Given the description of an element on the screen output the (x, y) to click on. 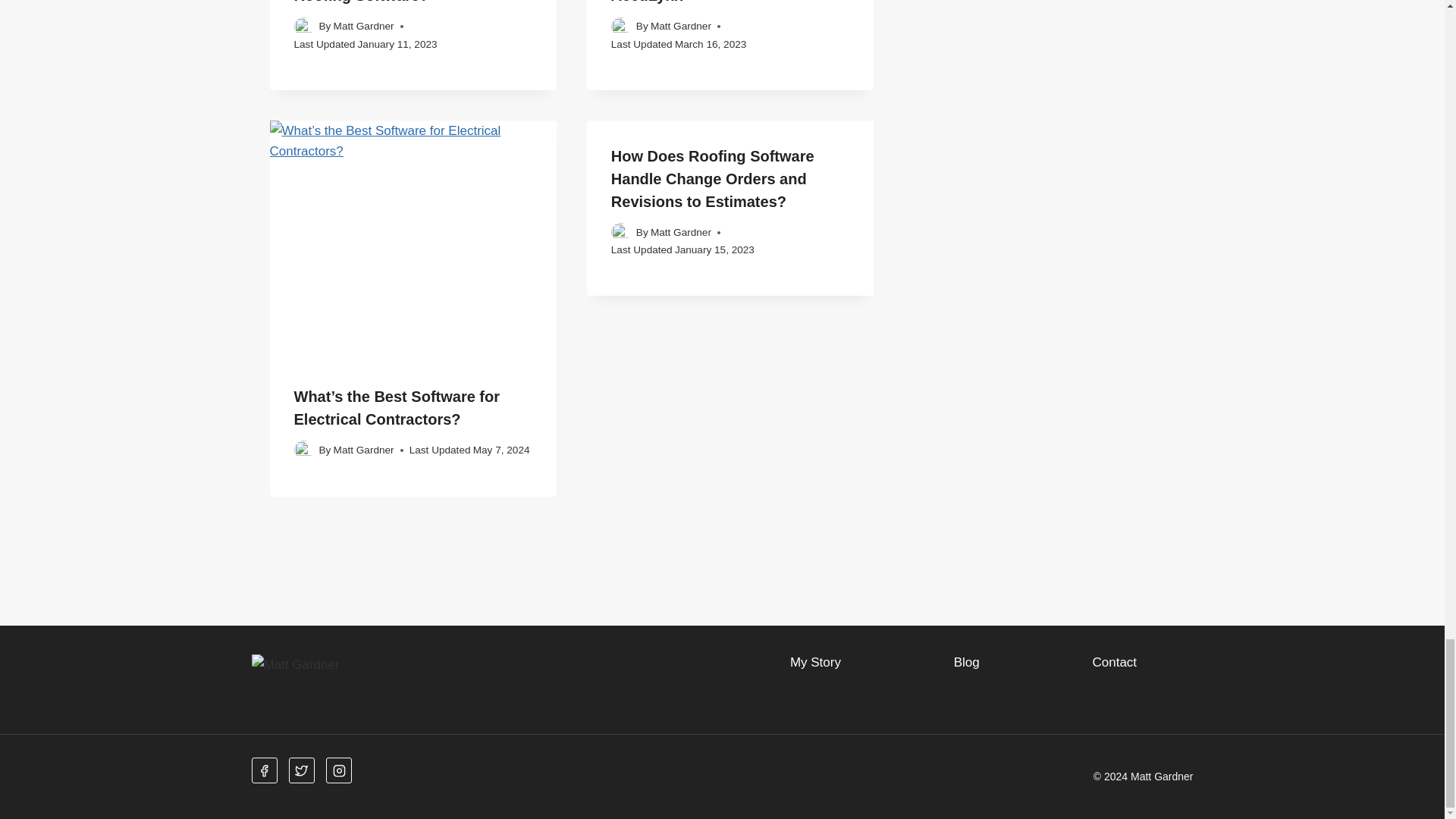
What Are The Benefits Of Using Roofing Software? (408, 2)
